Given the description of an element on the screen output the (x, y) to click on. 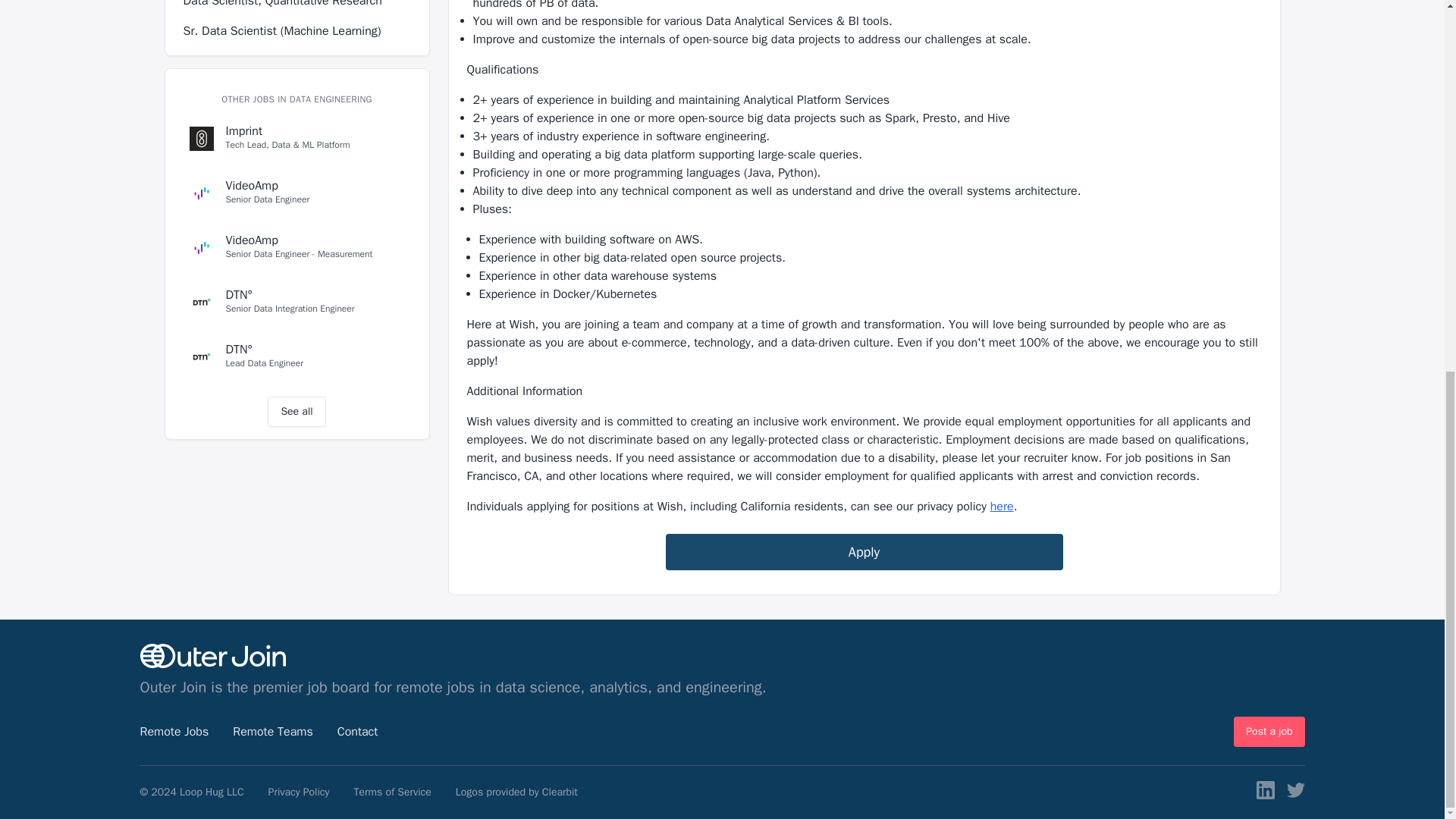
Data Scientist, Quantitative Research (296, 9)
